Given the description of an element on the screen output the (x, y) to click on. 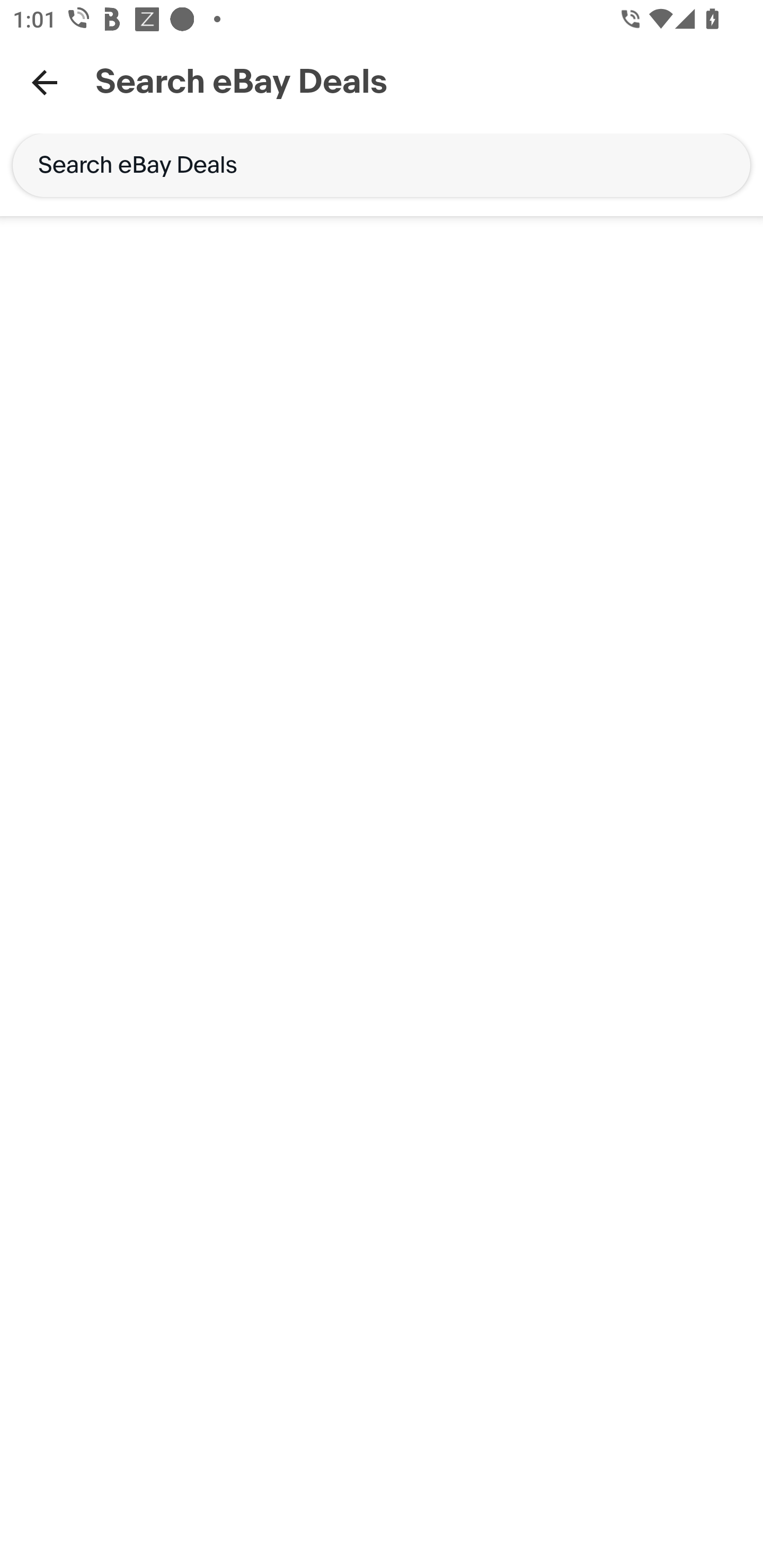
Navigate up (44, 82)
Search eBay Deals (381, 165)
